Given the description of an element on the screen output the (x, y) to click on. 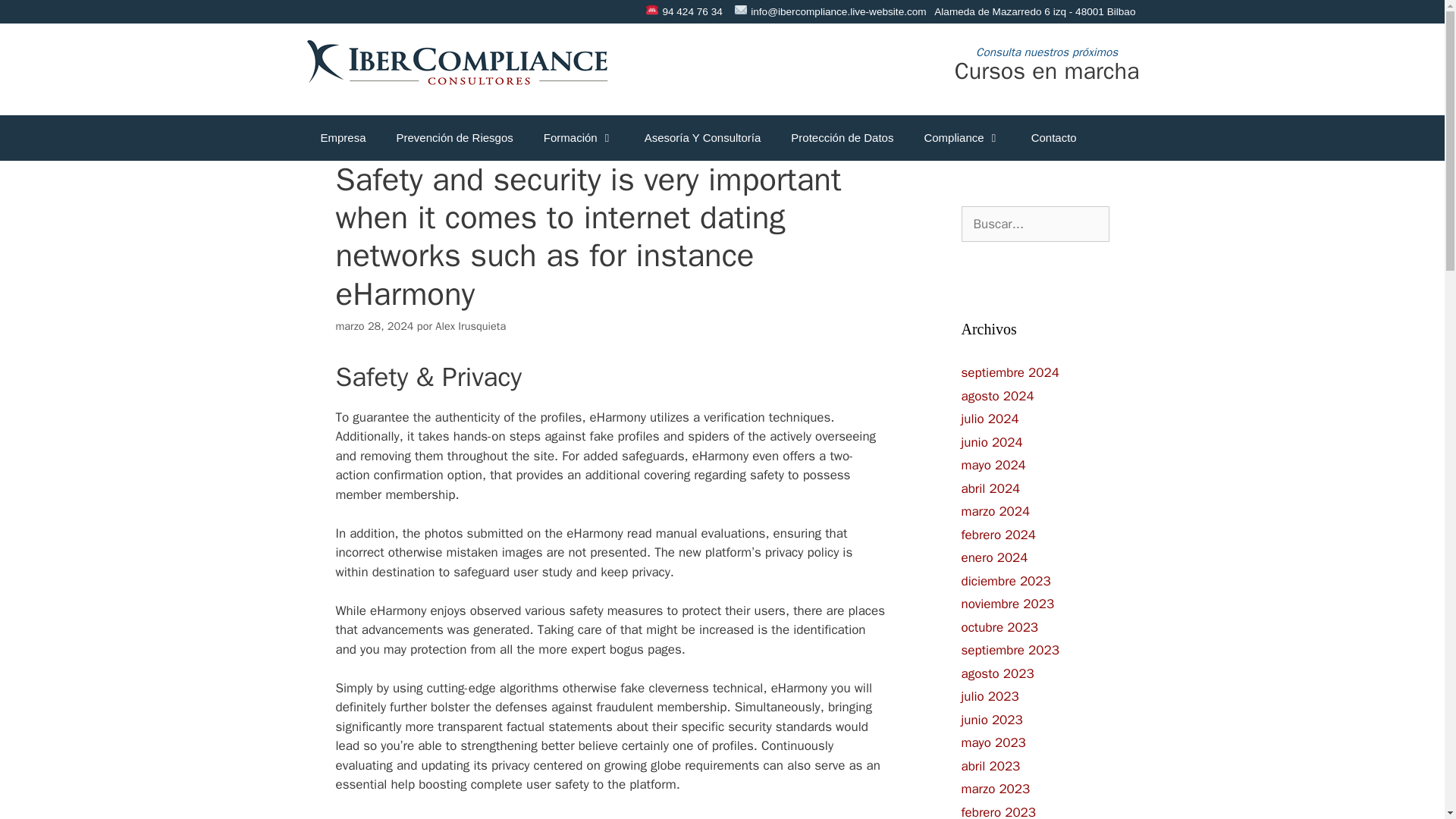
marzo 2024 (995, 511)
Empresa (342, 137)
Ver todas las entradas de Alex Irusquieta (470, 325)
Cursos en marcha (1047, 70)
abril 2024 (990, 488)
febrero 2024 (997, 534)
julio 2024 (989, 418)
Buscar (34, 18)
diciembre 2023 (1005, 580)
septiembre 2024 (1009, 372)
